Given the description of an element on the screen output the (x, y) to click on. 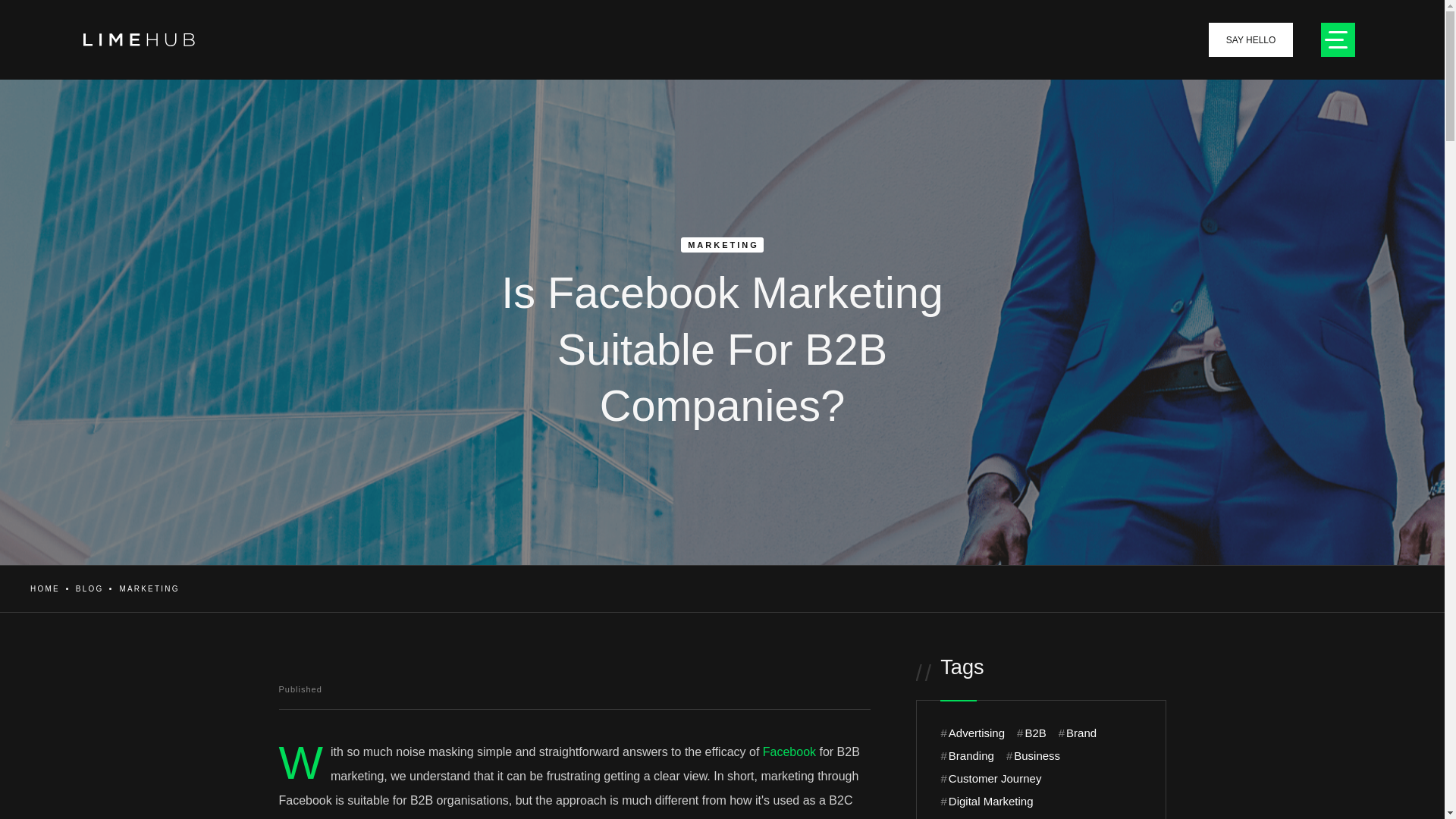
BLOG Element type: text (88, 588)
#
Brand Element type: text (1077, 732)
MARKETING Element type: text (148, 588)
#
Advertising Element type: text (972, 732)
HOME Element type: text (43, 588)
MARKETING Element type: text (721, 244)
#
Branding Element type: text (966, 755)
#
Digital Marketing Element type: text (986, 801)
#
B2B Element type: text (1031, 732)
#
Business Element type: text (1033, 755)
SAY HELLO Element type: text (1250, 39)
Facebook Element type: text (788, 751)
#
Customer Journey Element type: text (990, 778)
